Given the description of an element on the screen output the (x, y) to click on. 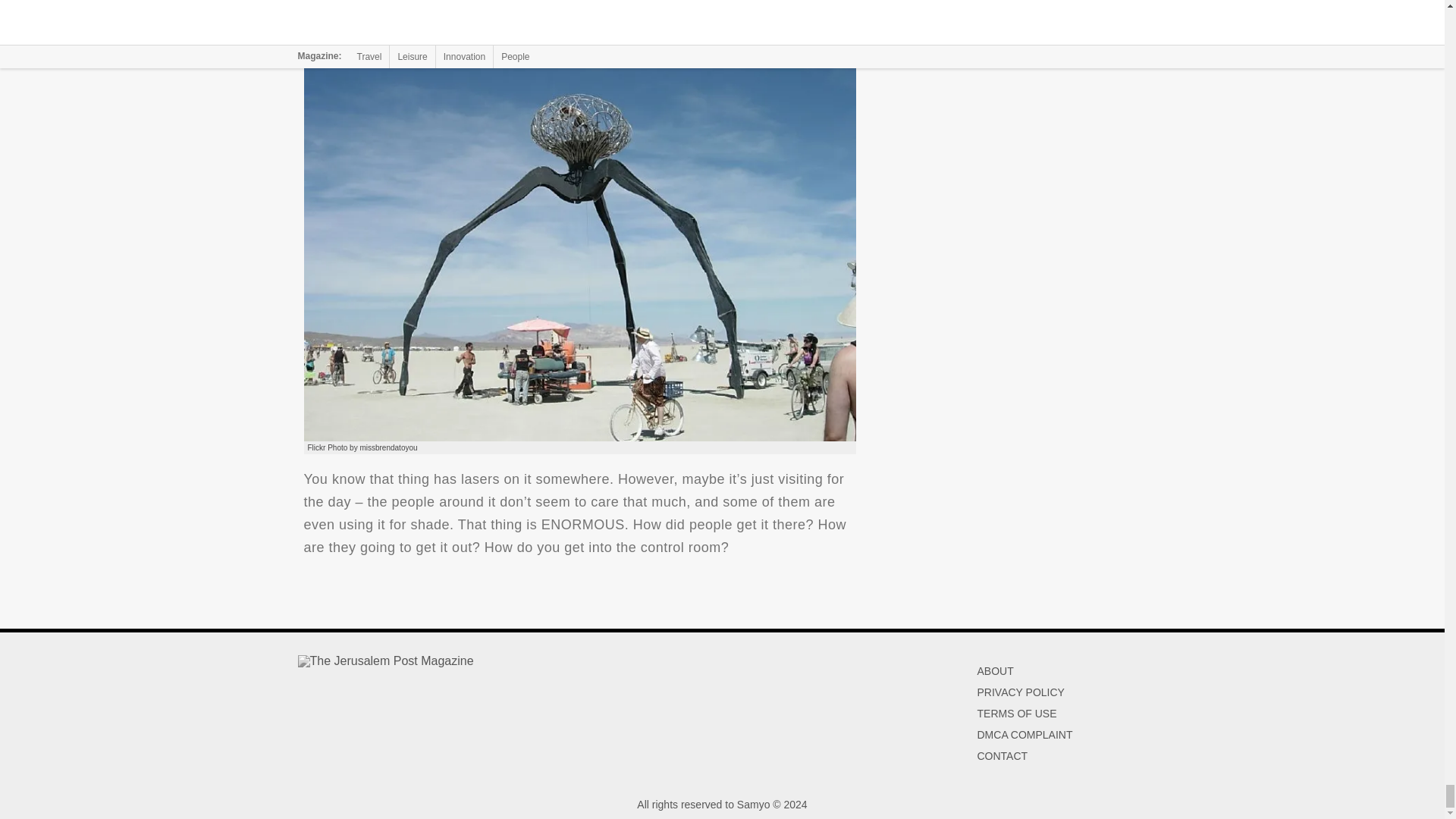
PRIVACY POLICY (1020, 692)
TERMS OF USE (1016, 713)
ABOUT (994, 671)
CONTACT (1001, 756)
DMCA COMPLAINT (1023, 734)
